Given the description of an element on the screen output the (x, y) to click on. 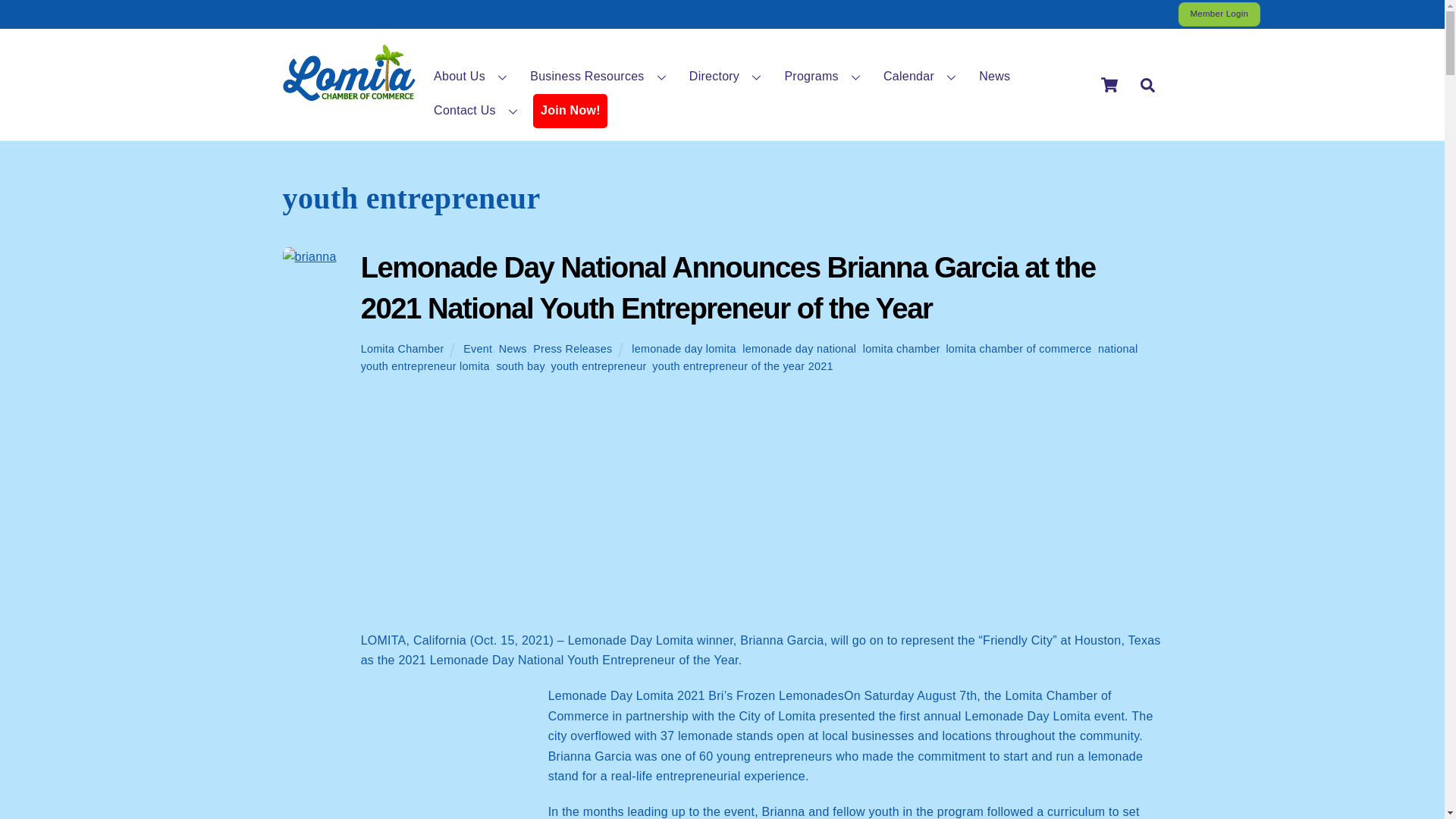
Lomita Chamber of Commerce (348, 94)
Directory (727, 76)
brianna (309, 256)
Member Login (1218, 14)
Business Resources (600, 76)
About Us (472, 76)
Search (1146, 83)
Cart (1108, 84)
